Given the description of an element on the screen output the (x, y) to click on. 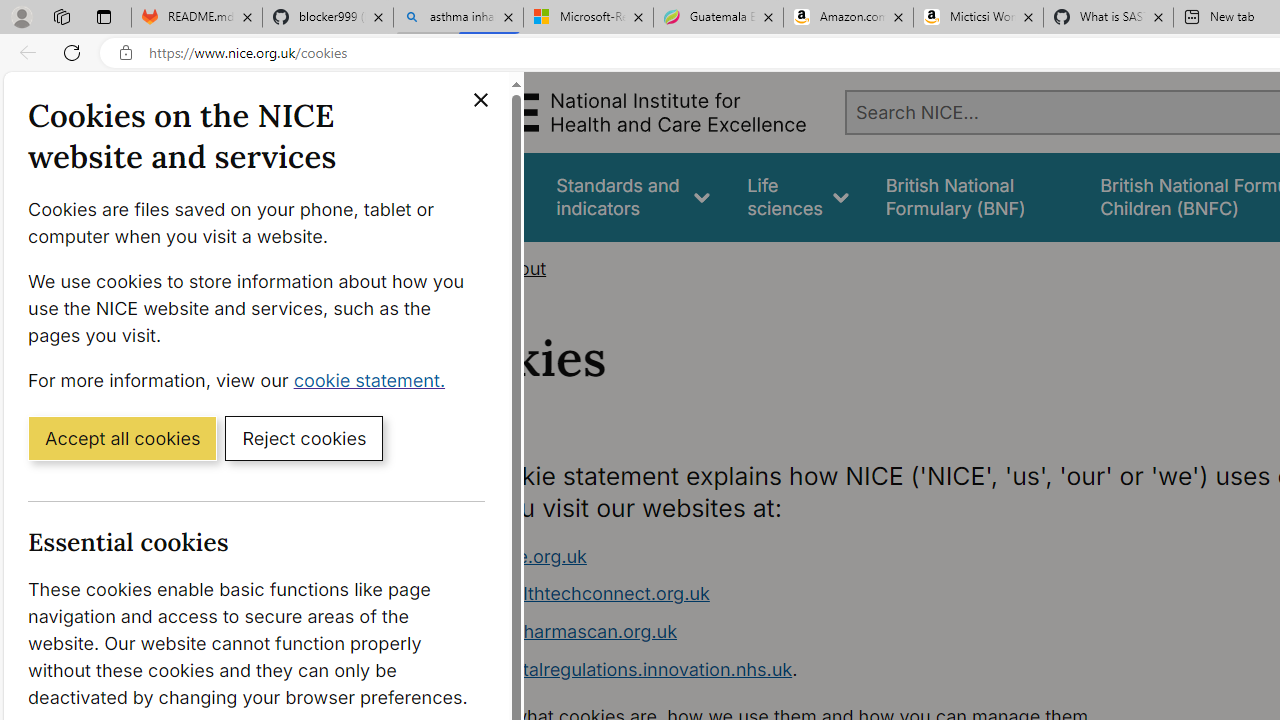
Life sciences (798, 196)
Guidance (479, 196)
www.nice.org.uk (514, 556)
www.nice.org.uk (818, 556)
Reject cookies (304, 437)
Guidance (479, 196)
www.ukpharmascan.org.uk (818, 632)
Life sciences (798, 196)
